Given the description of an element on the screen output the (x, y) to click on. 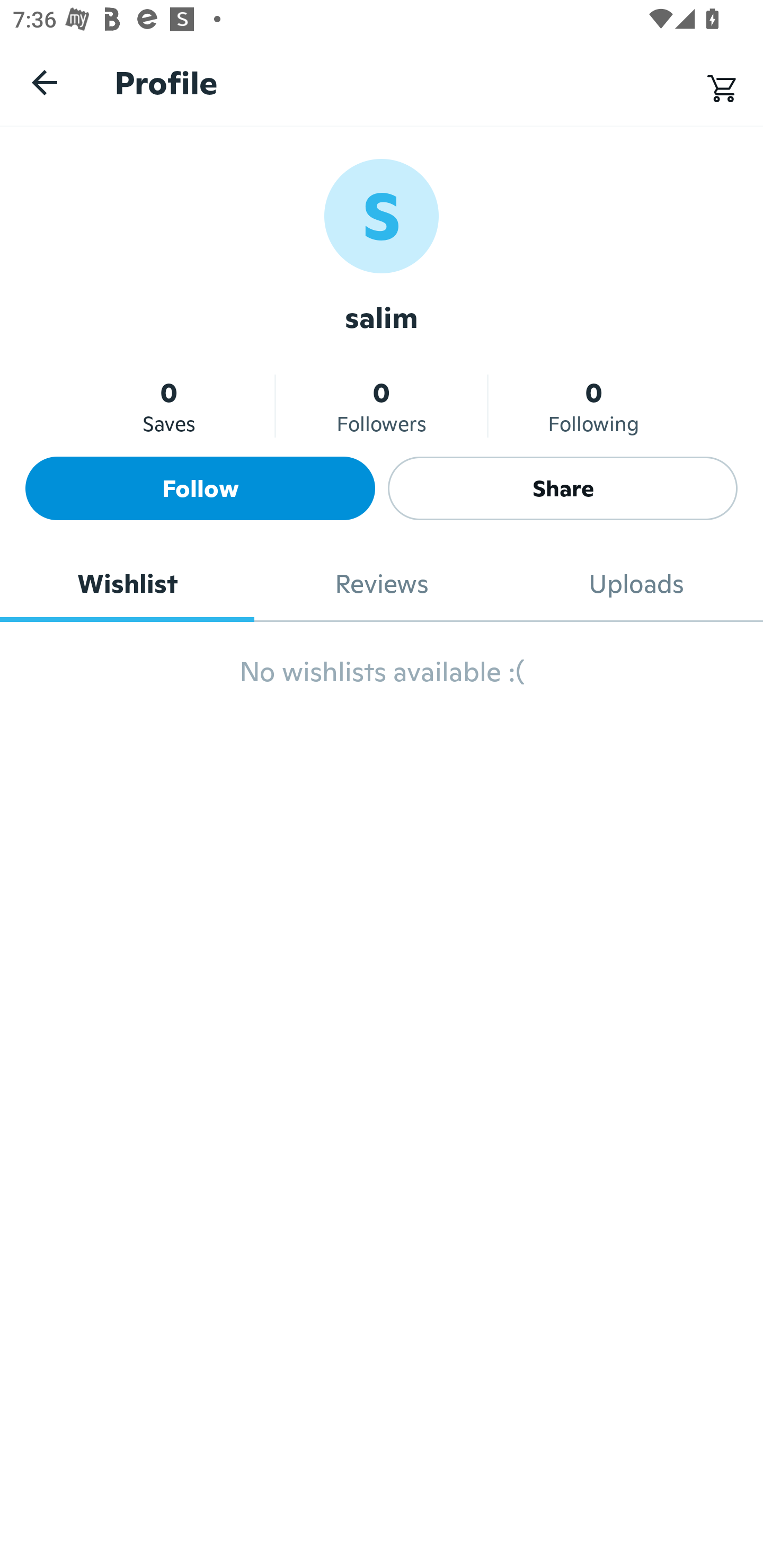
Navigate up (44, 82)
S (381, 215)
0 Followers (381, 405)
0 Following (593, 405)
Follow (200, 488)
Share (562, 488)
Wishlist (127, 583)
Reviews (381, 583)
Uploads (635, 583)
No wishlists available :( (381, 679)
